Given the description of an element on the screen output the (x, y) to click on. 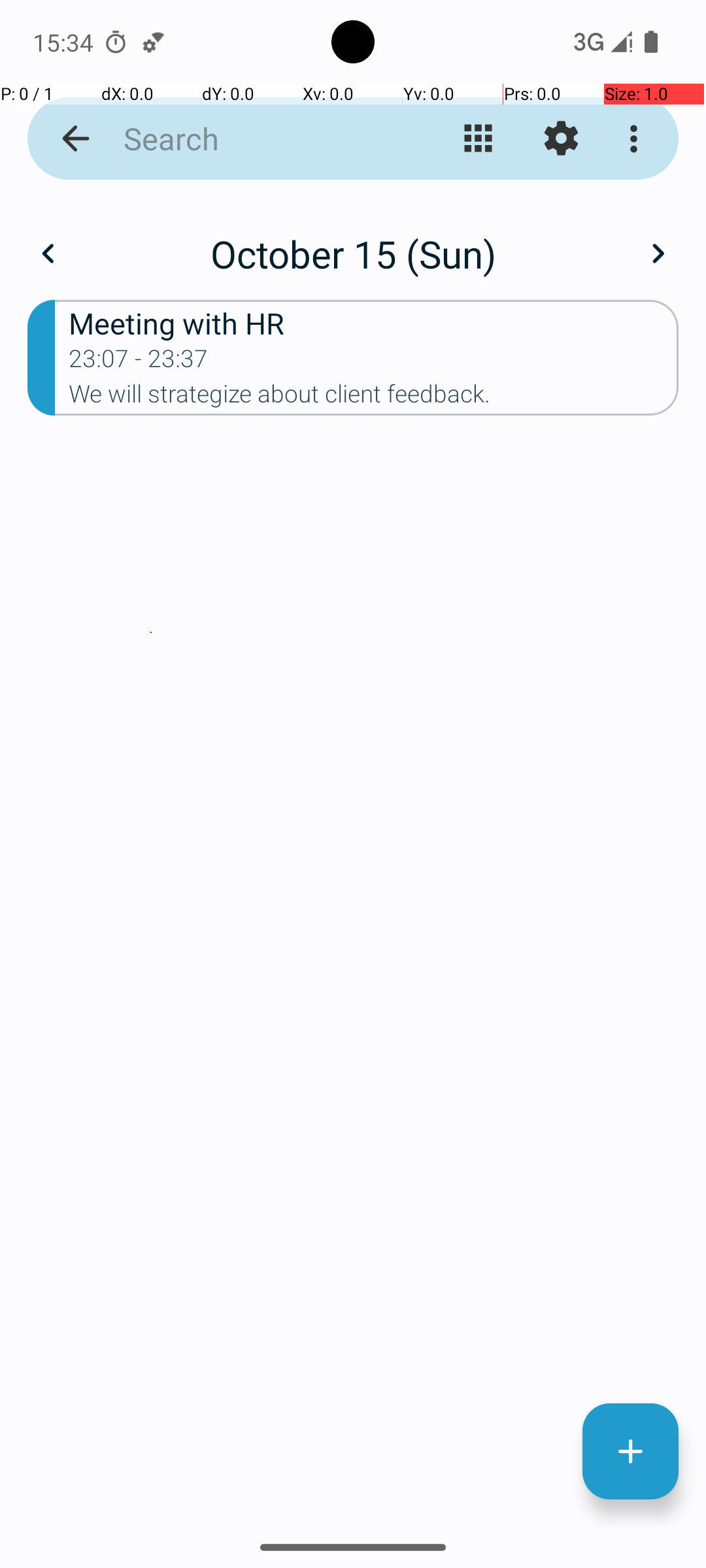
23:07 - 23:37 Element type: android.widget.TextView (137, 362)
We will strategize about client feedback. Element type: android.widget.TextView (373, 397)
